Given the description of an element on the screen output the (x, y) to click on. 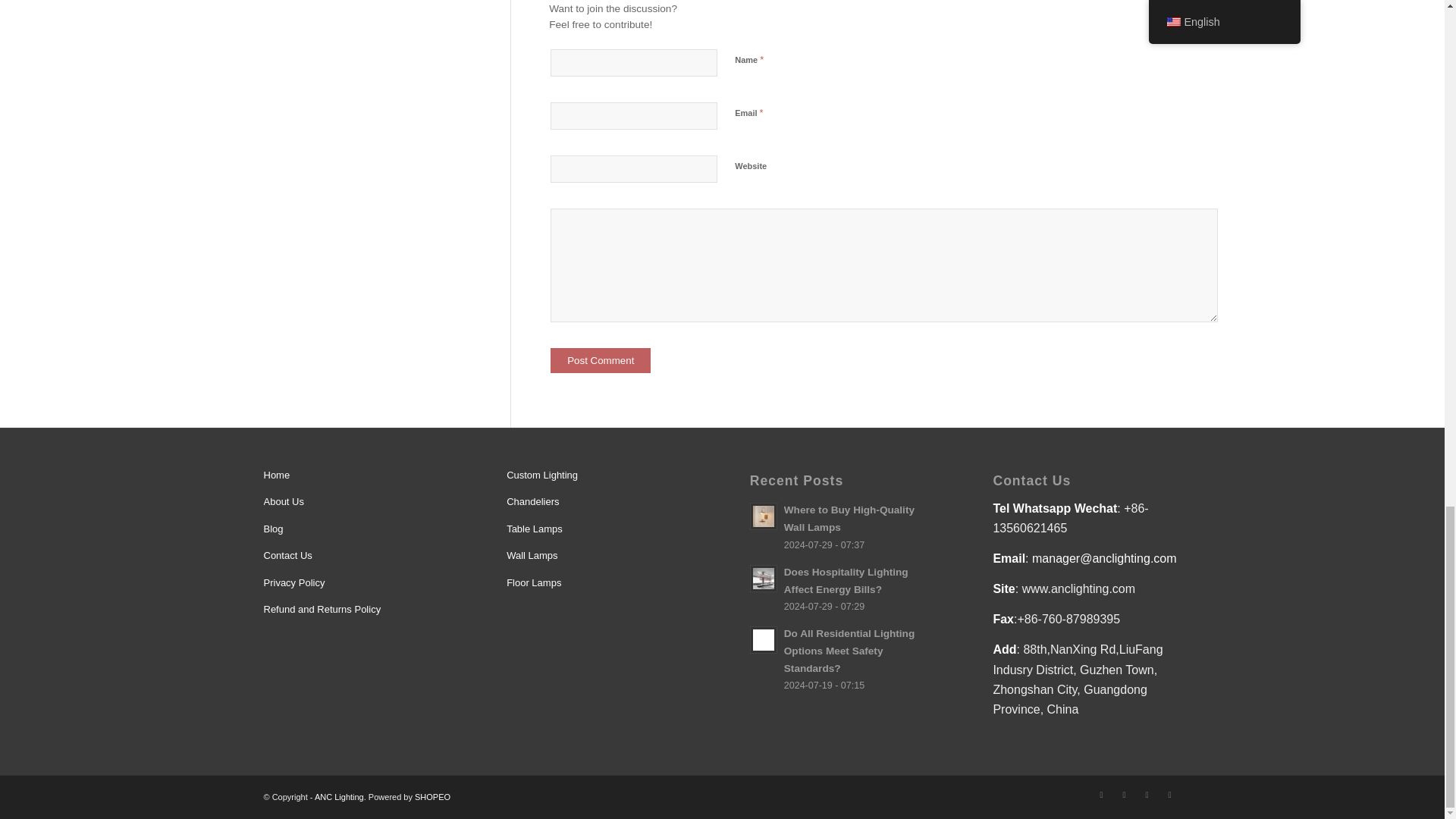
Does Hospitality Lighting Affect Energy Bills? (843, 588)
Facebook (1124, 793)
Twitter (1101, 793)
Do All Residential Lighting Options Meet Safety Standards? (843, 658)
Where to Buy High-Quality Wall Lamps (843, 526)
Post Comment (600, 360)
Instagram (1146, 793)
